Given the description of an element on the screen output the (x, y) to click on. 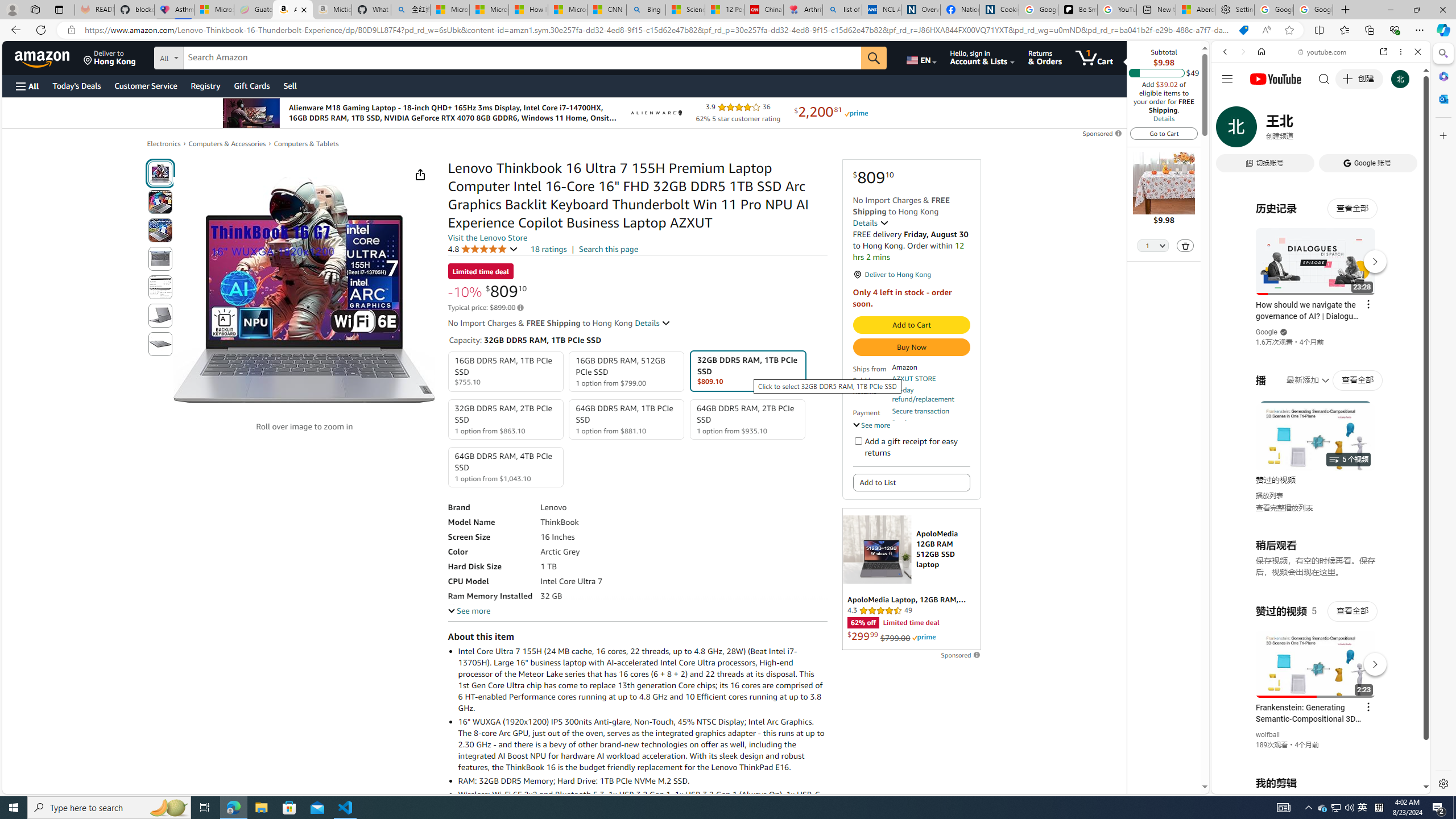
Amazon (43, 57)
Search in (210, 56)
WEB   (1230, 130)
64GB DDR5 RAM, 2TB PCIe SSD 1 option from $935.10 (747, 418)
